Given the description of an element on the screen output the (x, y) to click on. 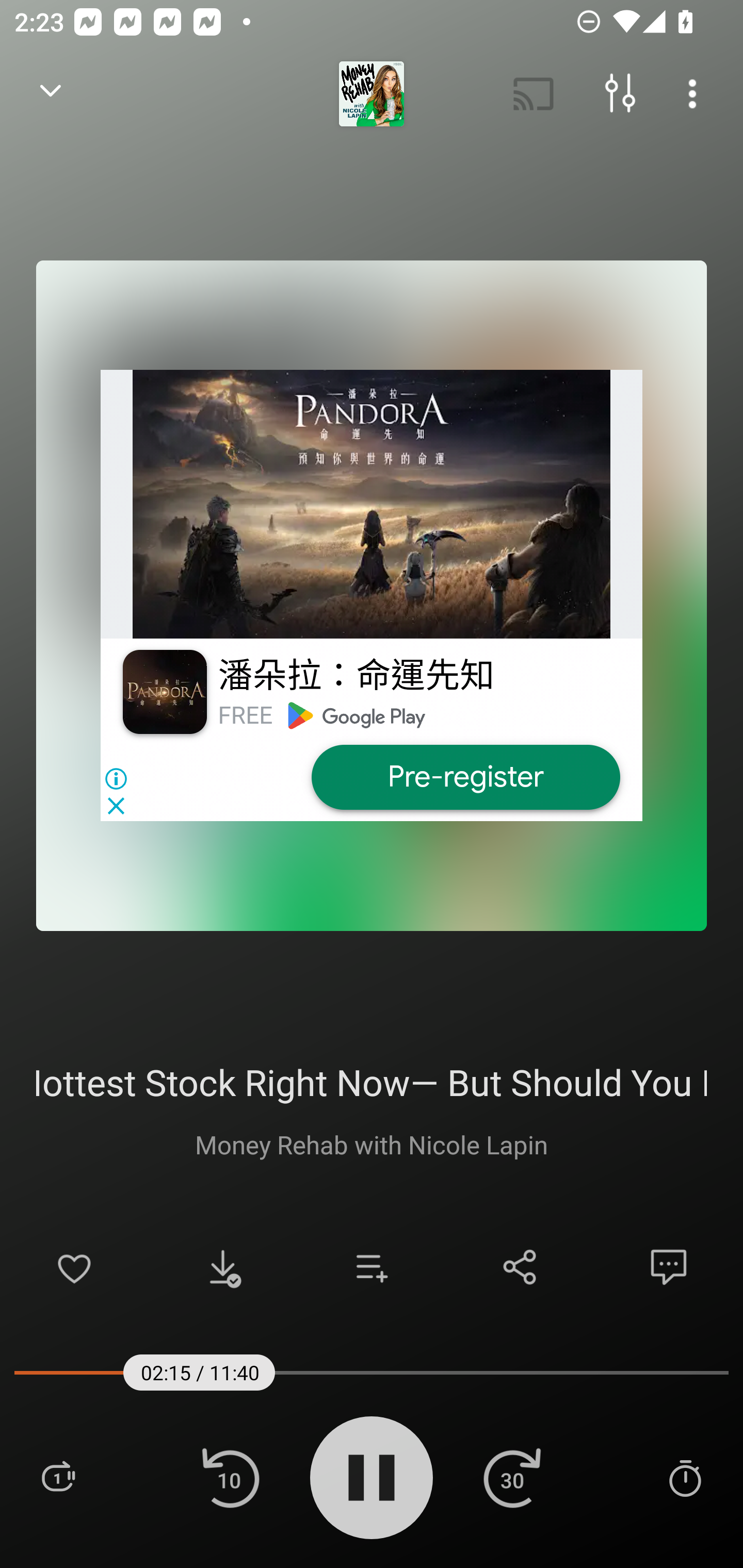
Cast. Disconnected (533, 93)
 Back (50, 94)
潘朵拉：命運先知 (355, 675)
FREE (245, 714)
Pre-register (464, 777)
Money Rehab with Nicole Lapin (371, 1144)
Comments (668, 1266)
Add to Favorites (73, 1266)
Add to playlist (371, 1266)
Share (519, 1266)
 Playlist (57, 1477)
Sleep Timer  (684, 1477)
